Given the description of an element on the screen output the (x, y) to click on. 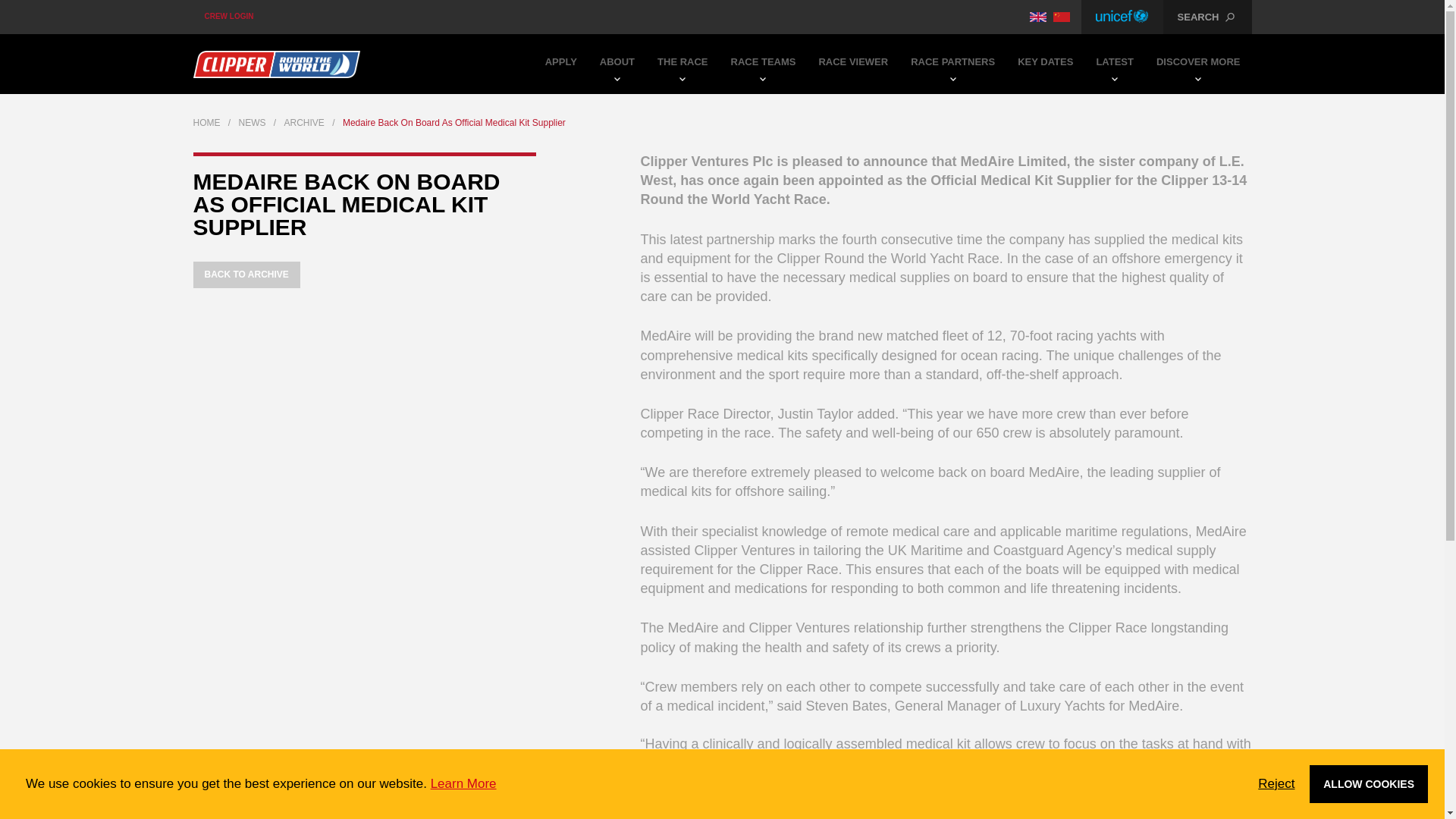
Chinese (1061, 17)
English (1037, 17)
ABOUT (617, 64)
English (1037, 17)
Clipper Round The World (275, 64)
RACE TEAMS (762, 64)
Chinese (1061, 17)
THE RACE (682, 64)
Unicef (1122, 17)
APPLY (561, 64)
